Given the description of an element on the screen output the (x, y) to click on. 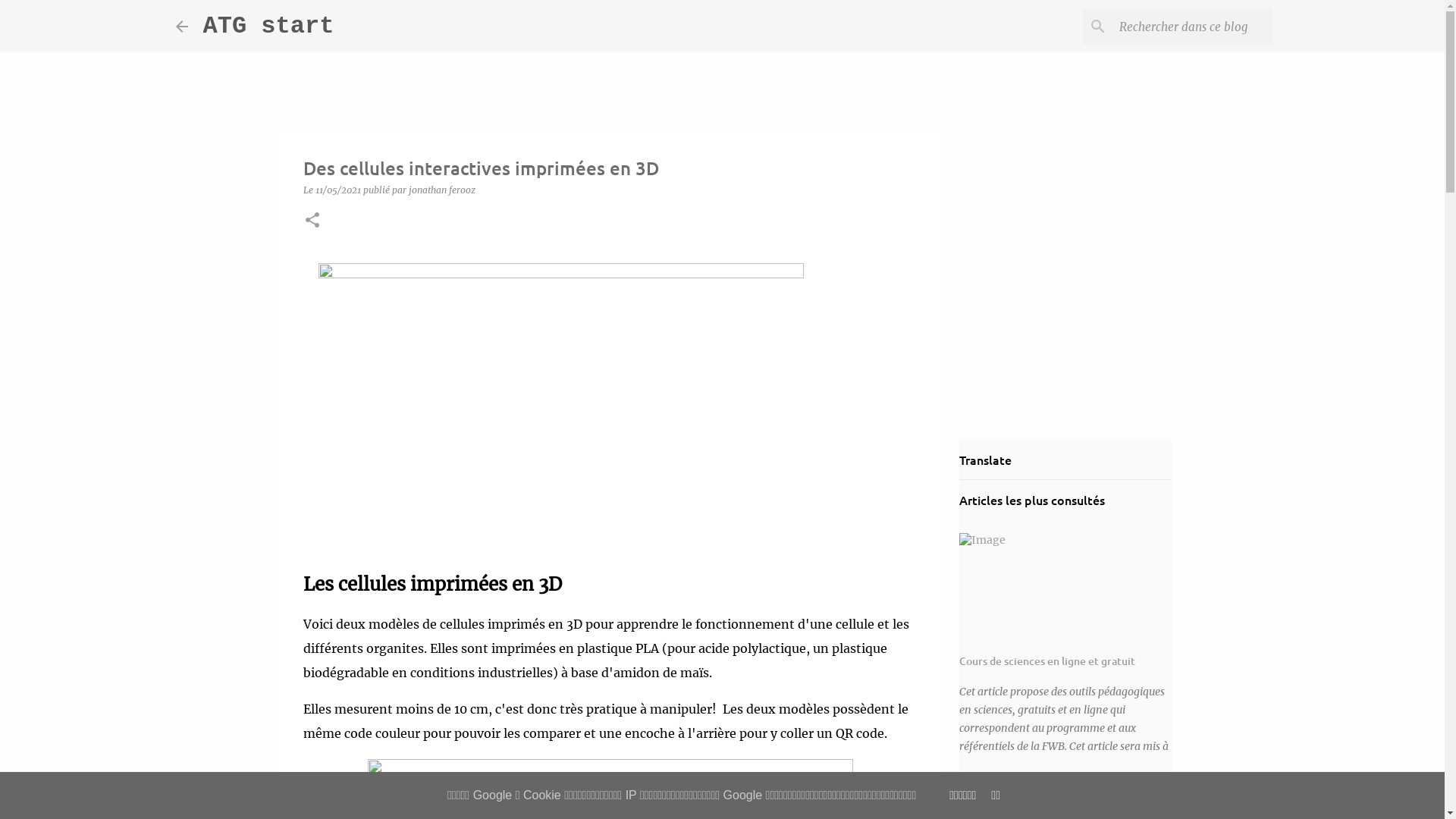
ATG start Element type: text (268, 26)
11/05/2021 Element type: text (339, 189)
Cours de sciences en ligne et gratuit Element type: text (1047, 660)
